Given the description of an element on the screen output the (x, y) to click on. 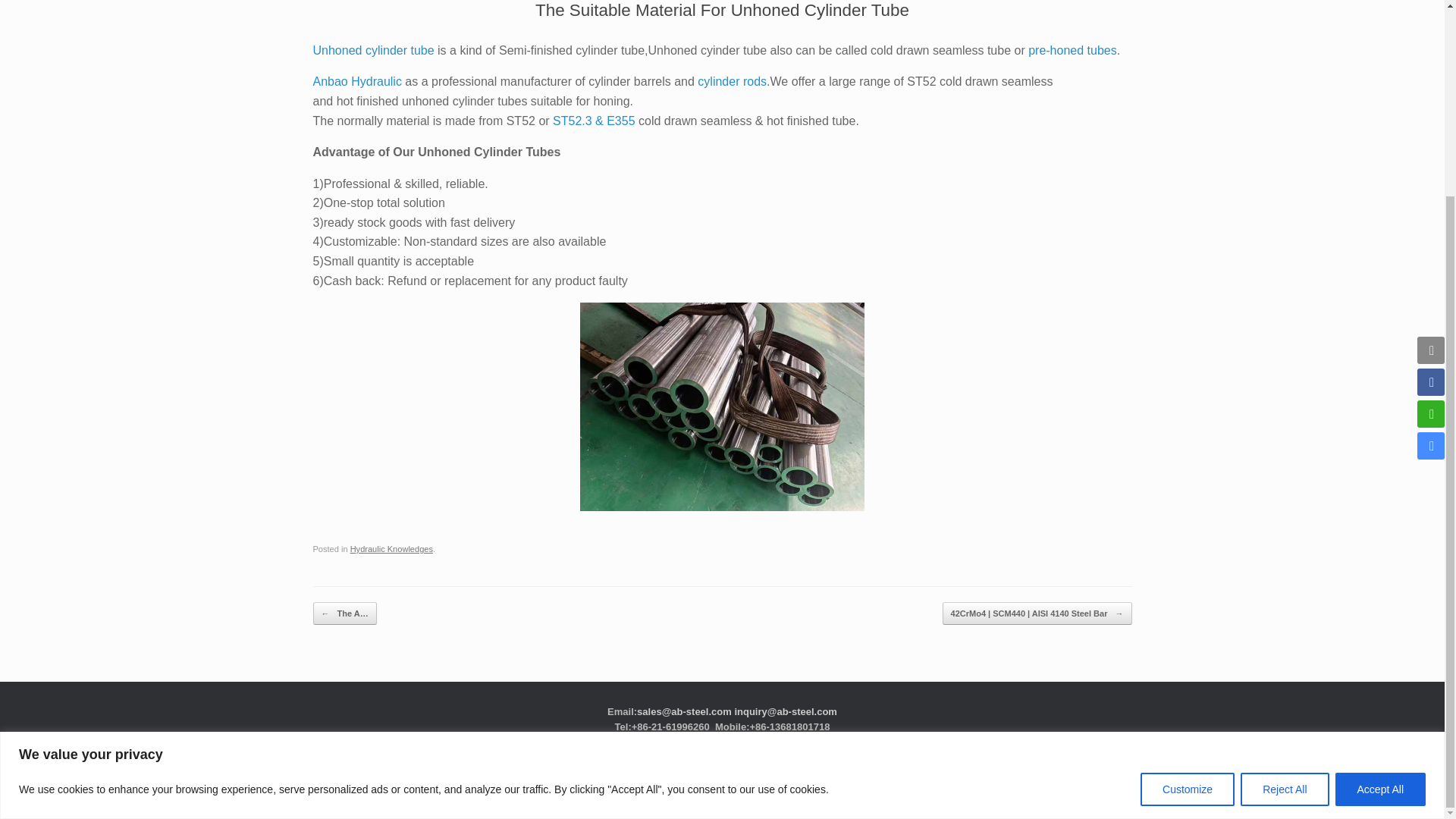
Reject All (1283, 540)
Customize (1187, 540)
Accept All (1380, 540)
